Given the description of an element on the screen output the (x, y) to click on. 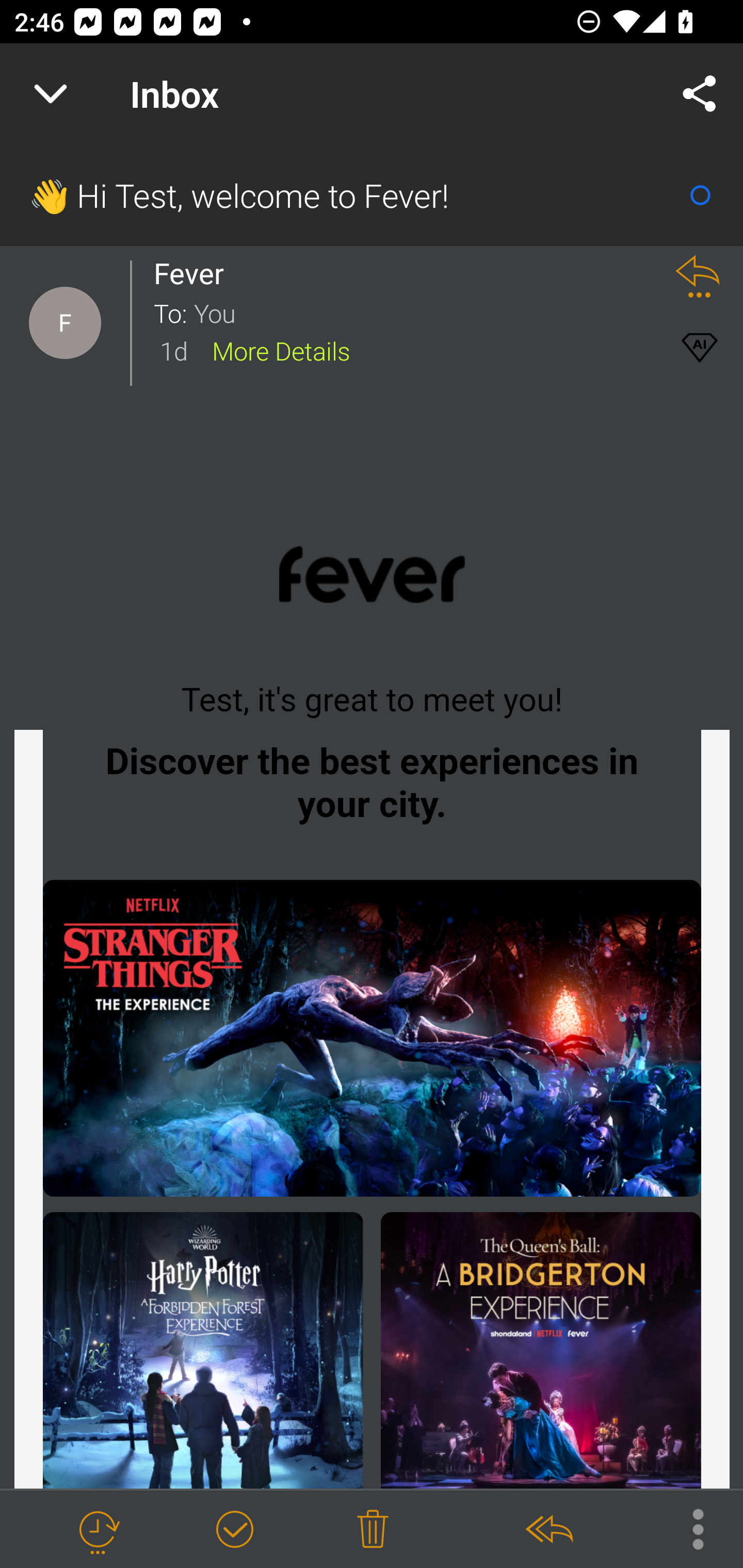
Navigate up (50, 93)
Share (699, 93)
Mark as Read (699, 194)
Fever (193, 273)
Contact Details (64, 322)
More Details (280, 349)
Stranger Things: The Experience (371, 1041)
Harry Potter: A Forbidden Forest Experience (202, 1349)
The Queen's Ball: A Bridgerton Experience (540, 1349)
More Options (687, 1528)
Snooze (97, 1529)
Mark as Done (234, 1529)
Delete (372, 1529)
Reply All (548, 1529)
